Given the description of an element on the screen output the (x, y) to click on. 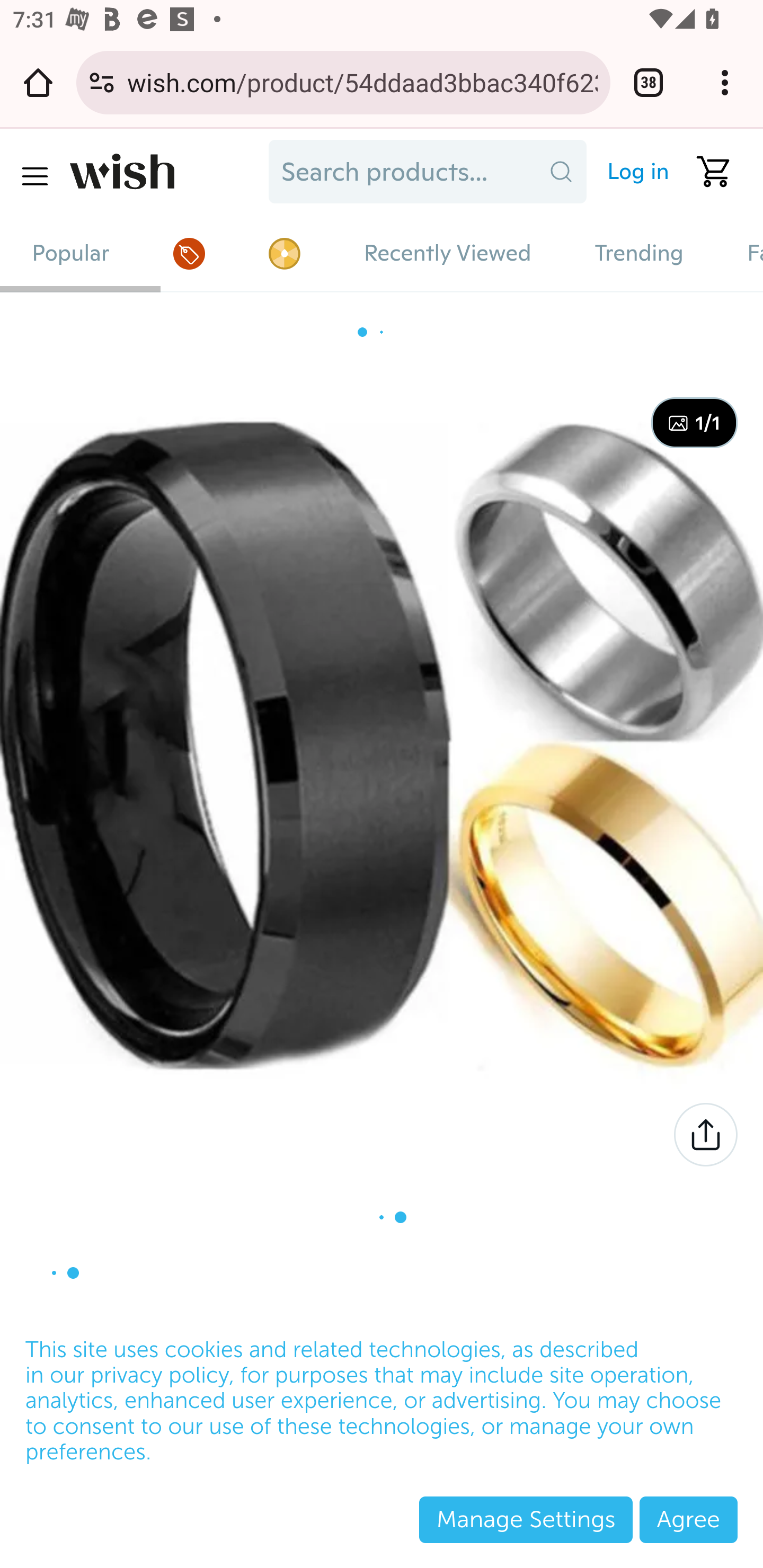
Open the home page (38, 82)
Connection is secure (101, 82)
Switch or close tabs (648, 82)
Customize and control Google Chrome (724, 82)
wish.com/product/54ddaad3bbac340f623b3dff (362, 82)
Search (560, 171)
Log in (629, 171)
Shopping Cart: 0 items (705, 171)
Main Menu (34, 176)
www.wish (162, 171)
Manage Settings (526, 1518)
Agree (688, 1518)
